Given the description of an element on the screen output the (x, y) to click on. 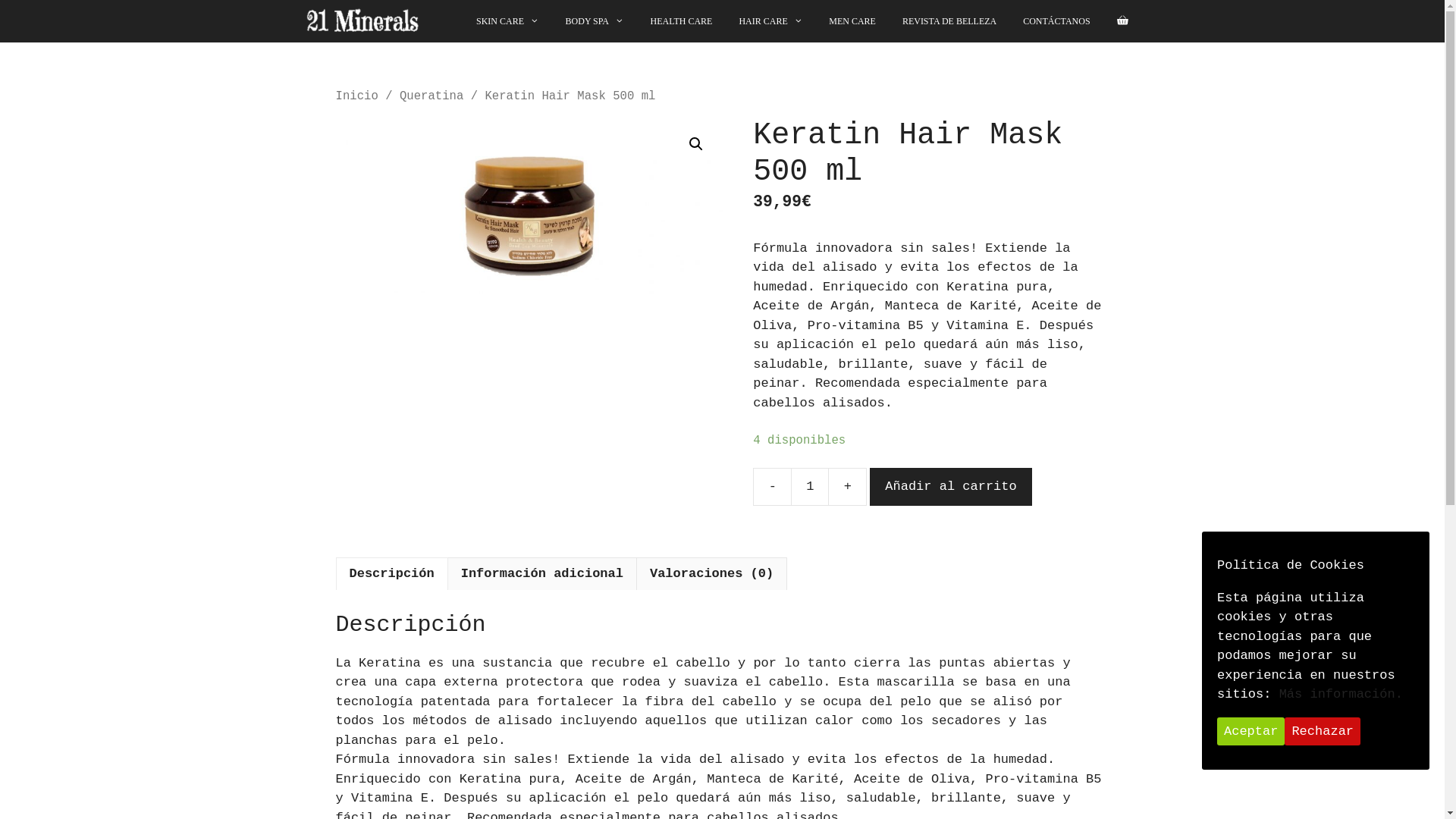
Keratin Hair Mask for Smoothed Hair Element type: hover (528, 205)
21minerals Element type: hover (361, 21)
- Element type: text (771, 486)
Aceptar Element type: text (1250, 731)
Ver su carrito de compras Element type: hover (1122, 21)
HAIR CARE Element type: text (770, 21)
Cantidad Element type: hover (809, 486)
SKIN CARE Element type: text (507, 21)
MEN CARE Element type: text (852, 21)
Rechazar Element type: text (1322, 731)
Inicio Element type: text (356, 96)
HEALTH CARE Element type: text (681, 21)
+ Element type: text (847, 486)
REVISTA DE BELLEZA Element type: text (949, 21)
Queratina Element type: text (431, 96)
BODY SPA Element type: text (594, 21)
Valoraciones (0) Element type: text (711, 574)
